Given the description of an element on the screen output the (x, y) to click on. 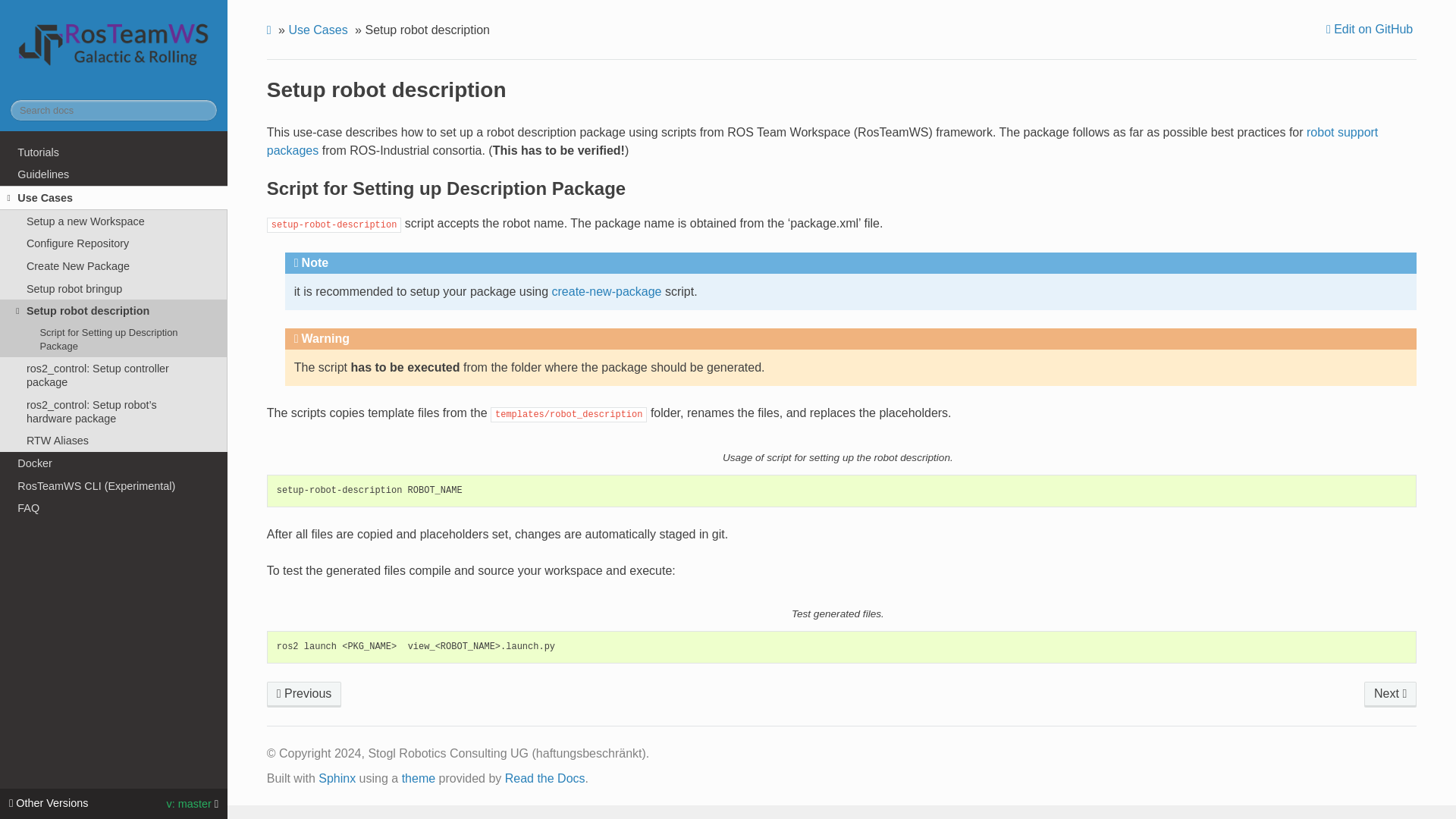
Setup robot description (113, 310)
Script for Setting up Description Package (113, 339)
robot support packages (822, 141)
FAQ (113, 508)
Edit on GitHub (1371, 29)
create-new-package (606, 291)
Create New Package (113, 265)
Next (1390, 694)
Setup robot bringup (304, 694)
Use Cases (113, 197)
